Given the description of an element on the screen output the (x, y) to click on. 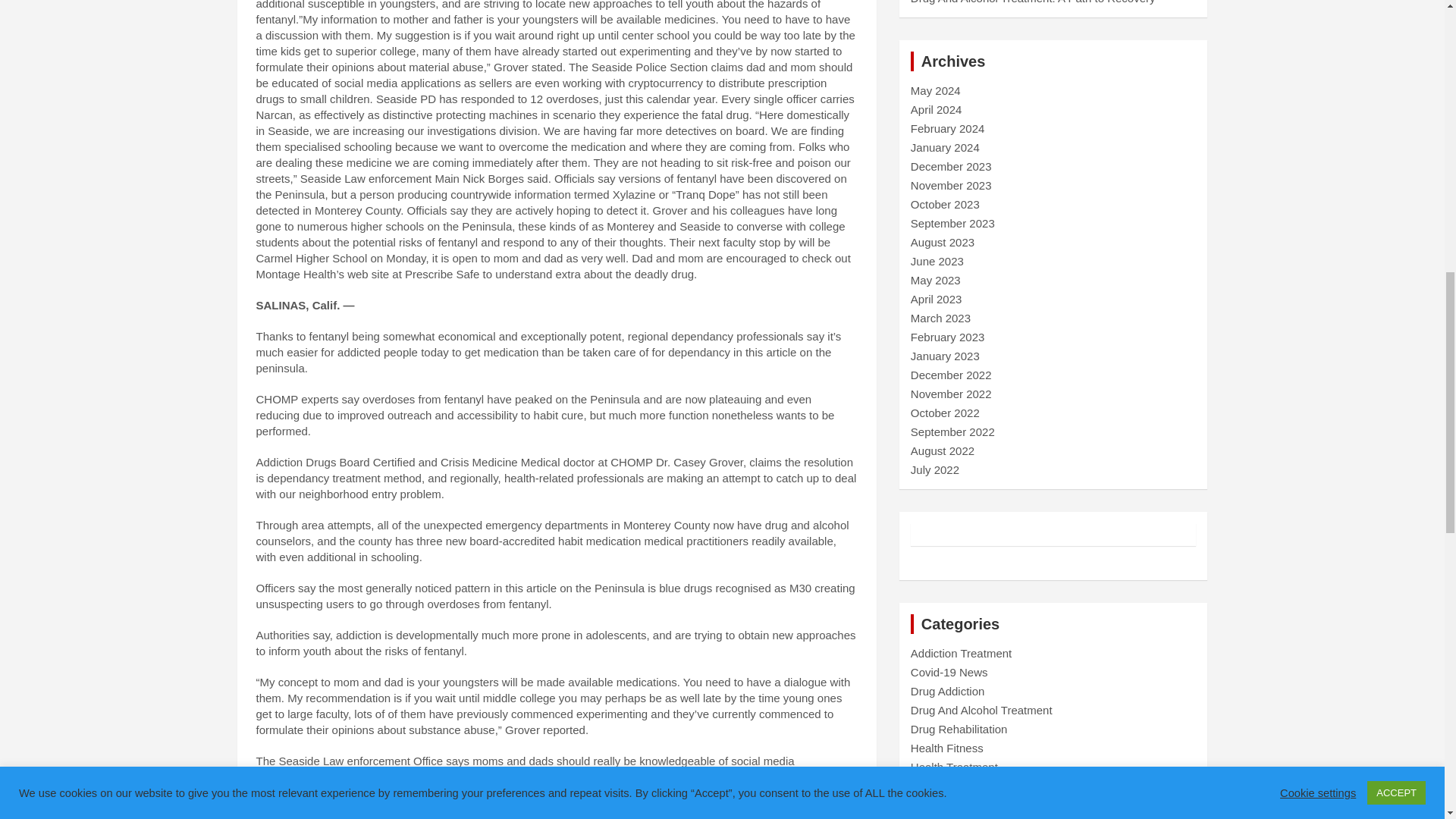
April 2024 (936, 109)
Drug And Alcohol Treatment: A Path to Recovery (1033, 2)
January 2024 (945, 146)
May 2024 (935, 90)
February 2024 (948, 128)
